Given the description of an element on the screen output the (x, y) to click on. 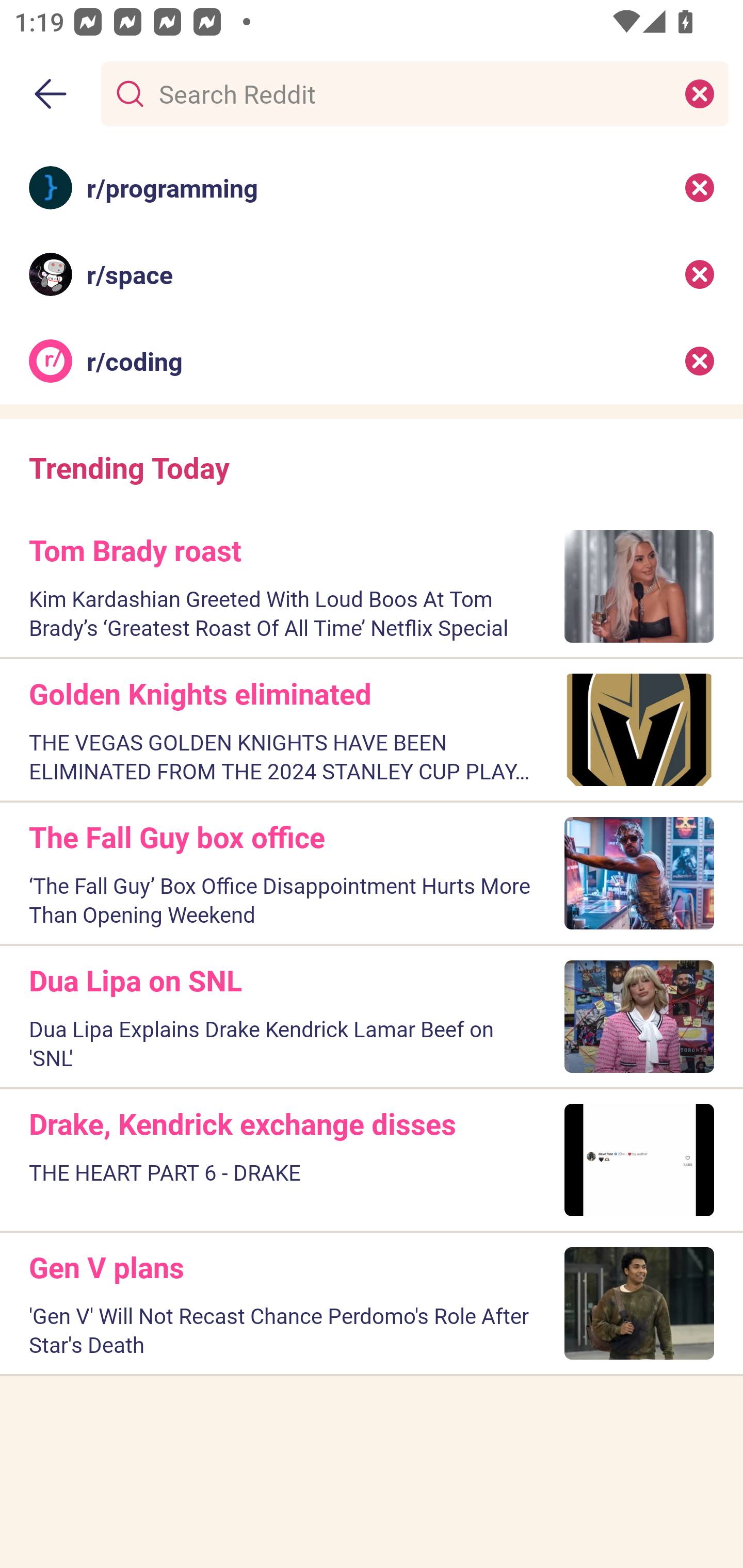
Back (50, 93)
Search Reddit (410, 93)
Clear search (699, 93)
r/programming Recent search: r/programming Remove (371, 187)
Remove (699, 187)
r/space Recent search: r/space Remove (371, 274)
Remove (699, 274)
r/coding Recent search: r/coding Remove (371, 361)
Remove (699, 361)
